Given the description of an element on the screen output the (x, y) to click on. 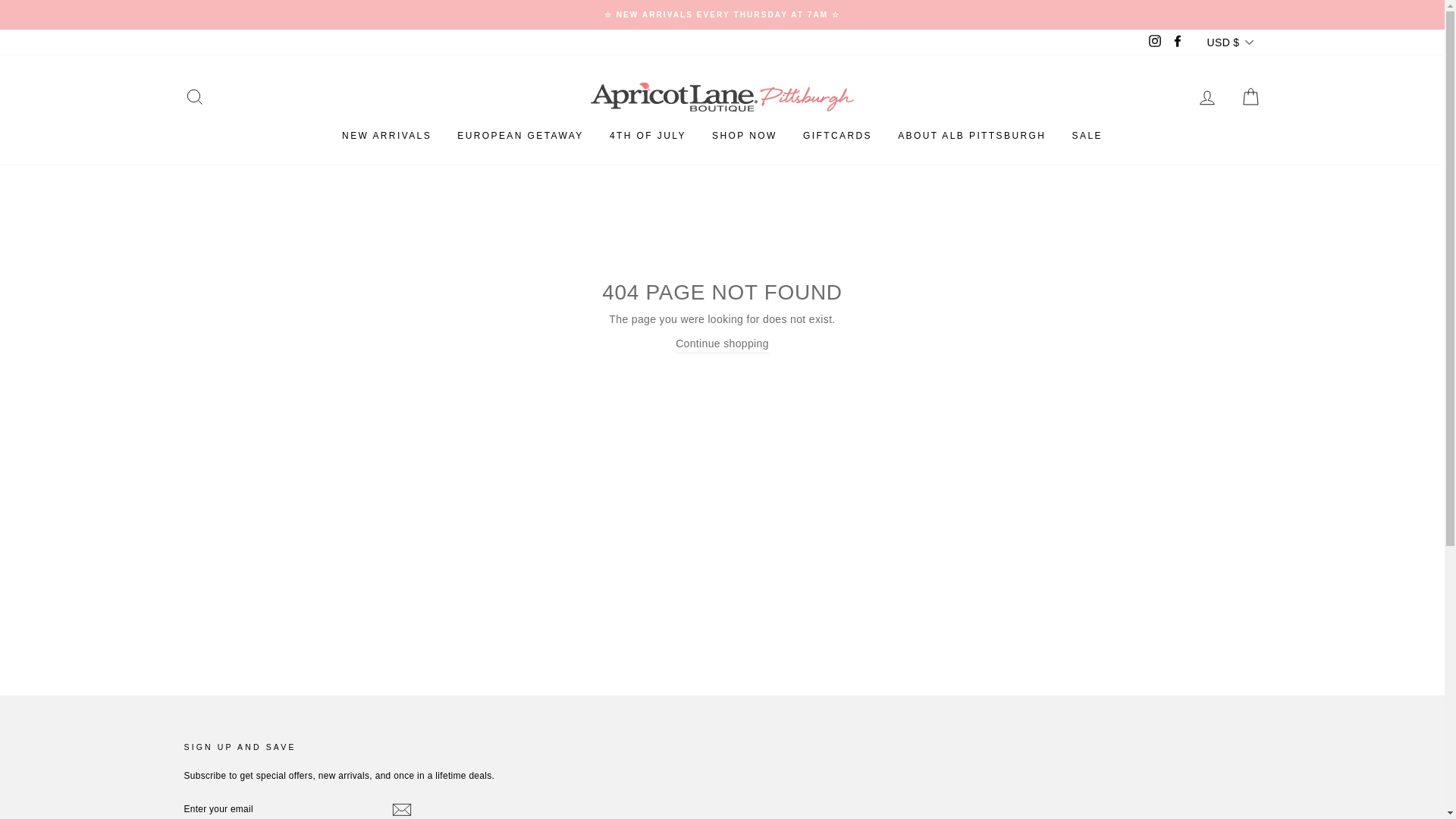
Apricot Lane Boutique - Pittsburgh on Instagram (1154, 42)
Instagram (1154, 42)
Apricot Lane Boutique - Pittsburgh on Facebook (1177, 42)
Facebook (1177, 42)
